Given the description of an element on the screen output the (x, y) to click on. 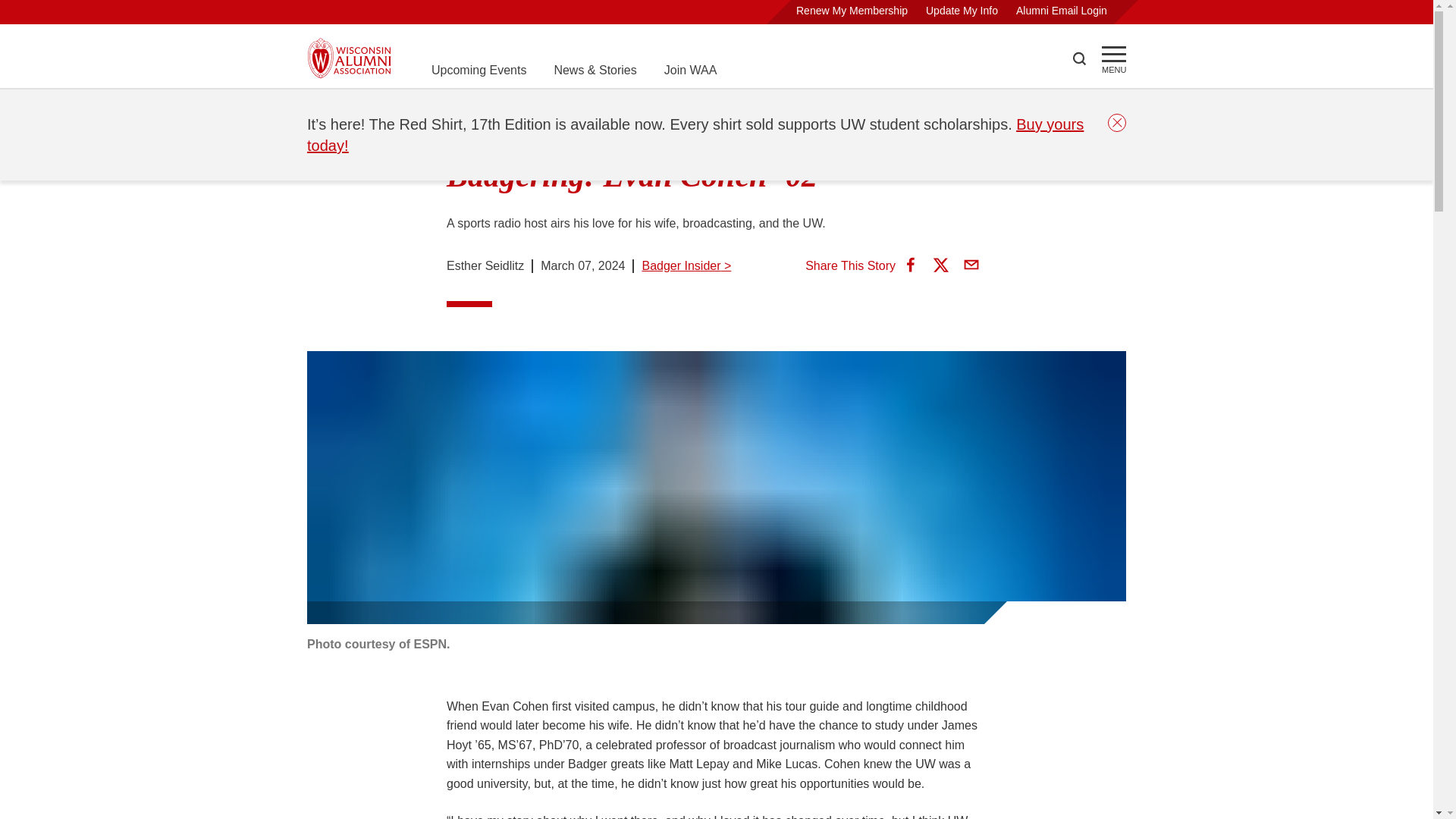
Badger Insider (468, 107)
Upcoming Events (477, 70)
Alumni Email Login (1061, 10)
Home (322, 107)
Join WAA (690, 70)
Update My Info (961, 10)
Renew My Membership (851, 10)
